Given the description of an element on the screen output the (x, y) to click on. 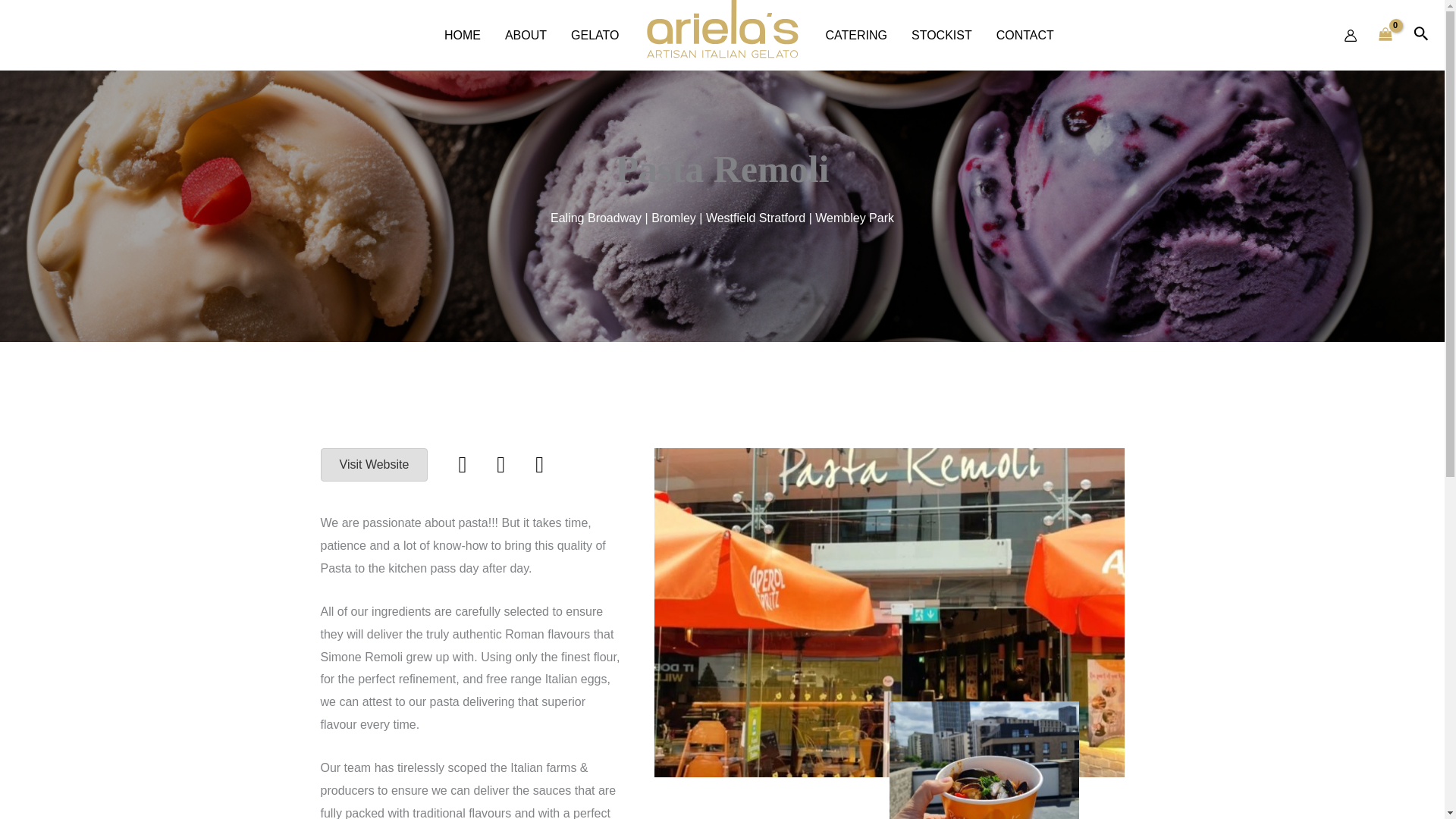
HOME (462, 35)
Pasta Remoli2 (983, 760)
CONTACT (1024, 35)
Pasta Remoli (756, 816)
CATERING (855, 35)
ABOUT (526, 35)
GELATO (594, 35)
Visit Website (374, 464)
Log In (678, 633)
